Given the description of an element on the screen output the (x, y) to click on. 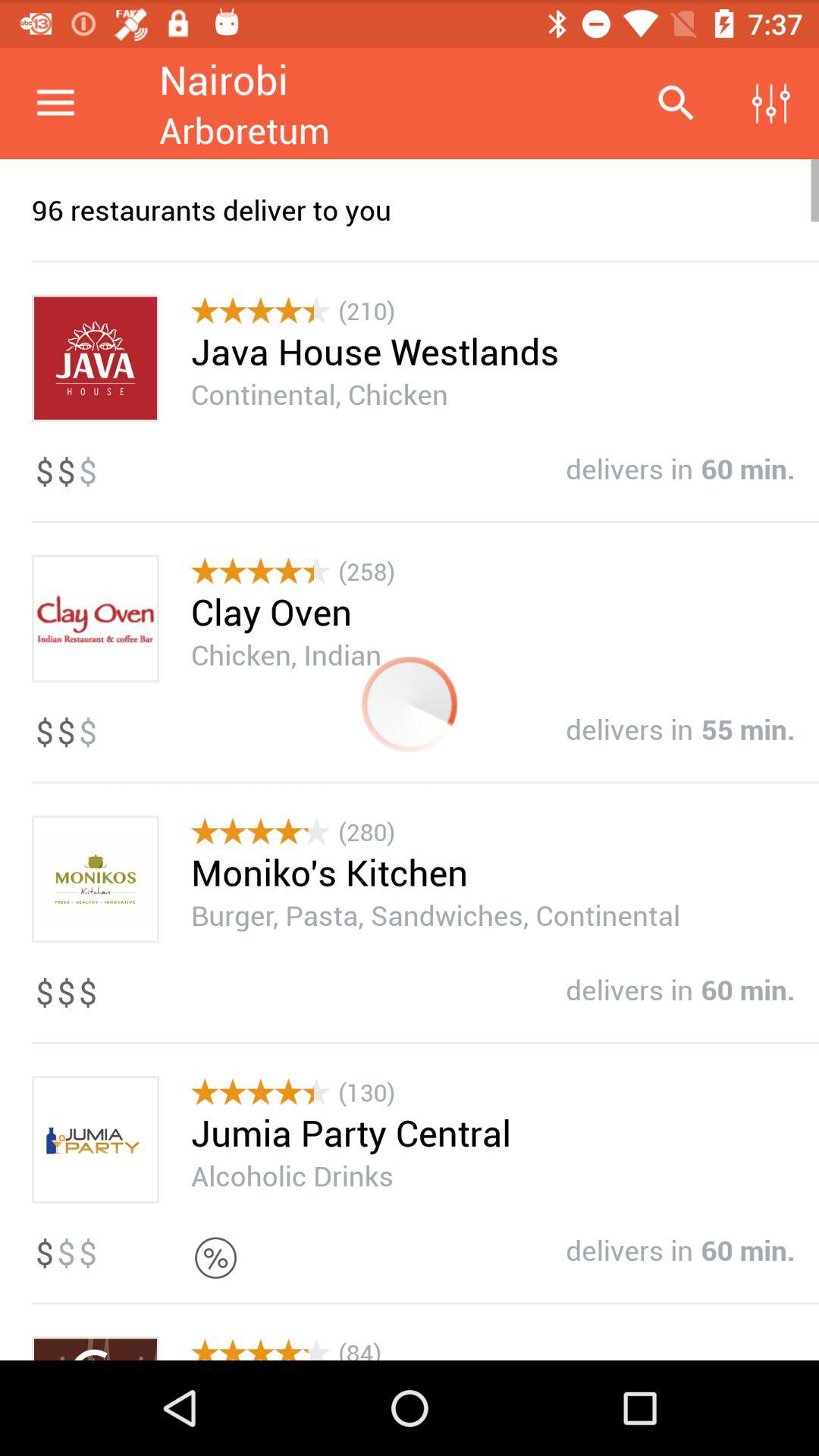
turn on the item above the 96 restaurants deliver icon (771, 103)
